Given the description of an element on the screen output the (x, y) to click on. 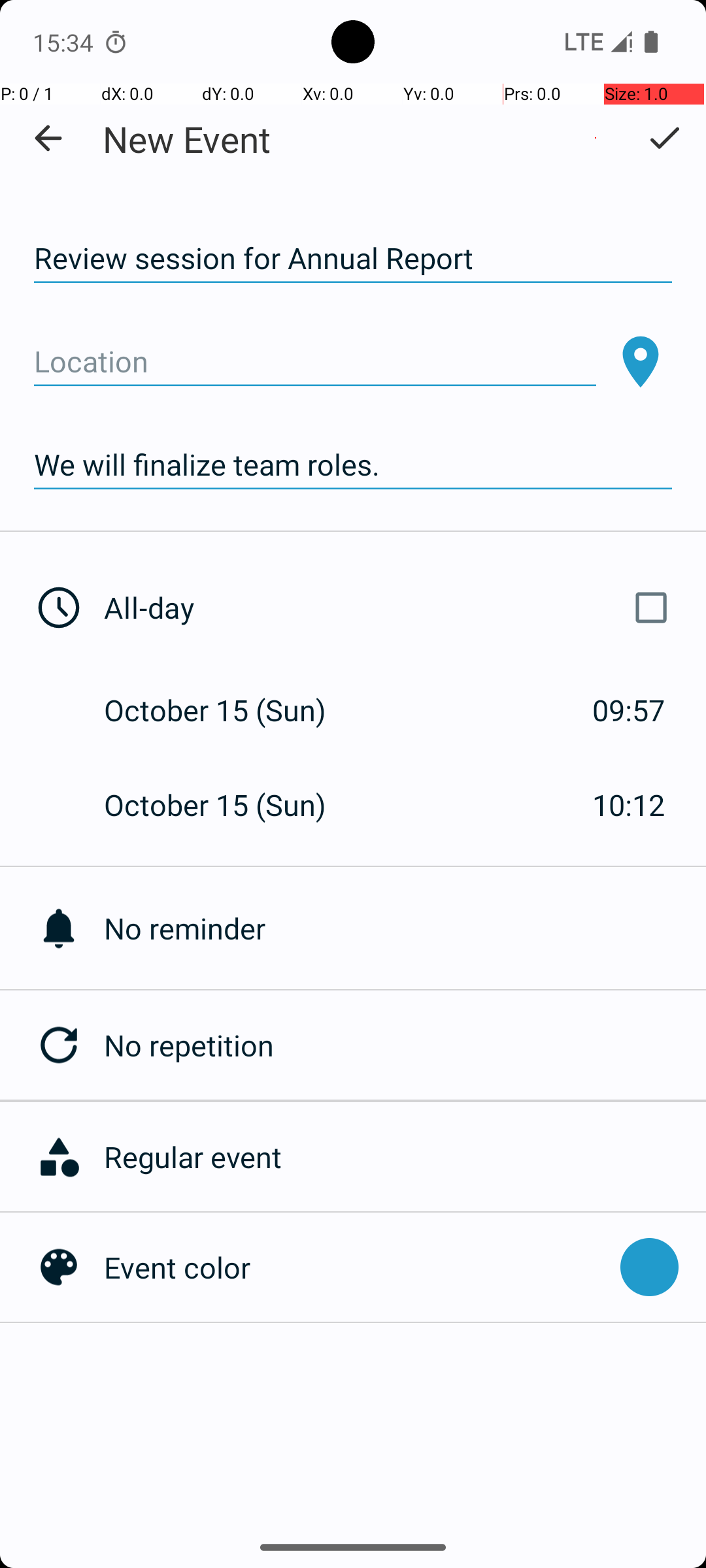
We will finalize team roles. Element type: android.widget.EditText (352, 465)
09:57 Element type: android.widget.TextView (628, 709)
10:12 Element type: android.widget.TextView (628, 804)
